Given the description of an element on the screen output the (x, y) to click on. 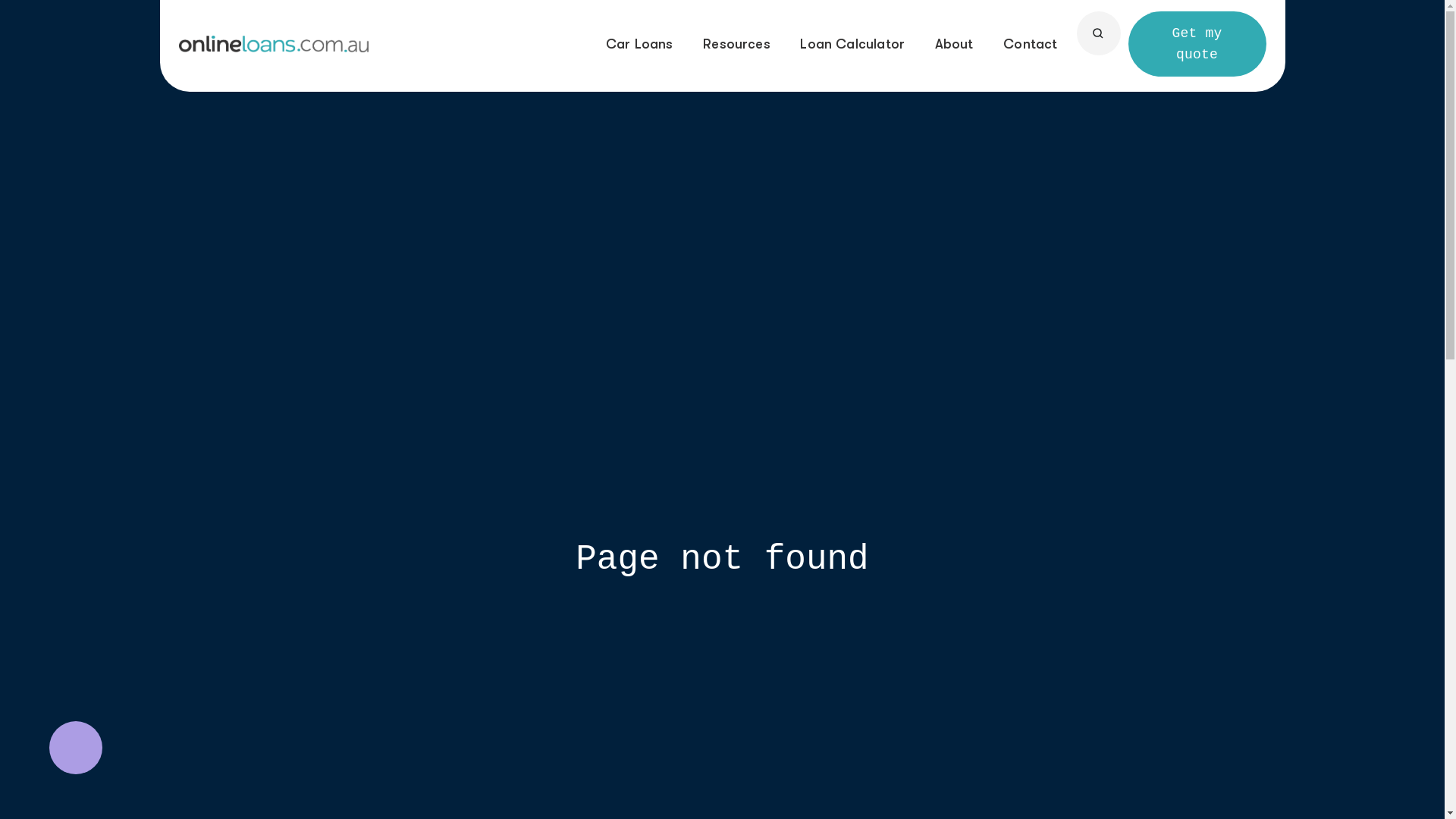
Get my quote Element type: text (1197, 43)
Contact Element type: text (1030, 43)
Loan Calculator Element type: text (852, 43)
Car Loans Element type: text (639, 43)
About Element type: text (954, 43)
Resources Element type: text (736, 43)
Get my quote Element type: text (1197, 43)
